Given the description of an element on the screen output the (x, y) to click on. 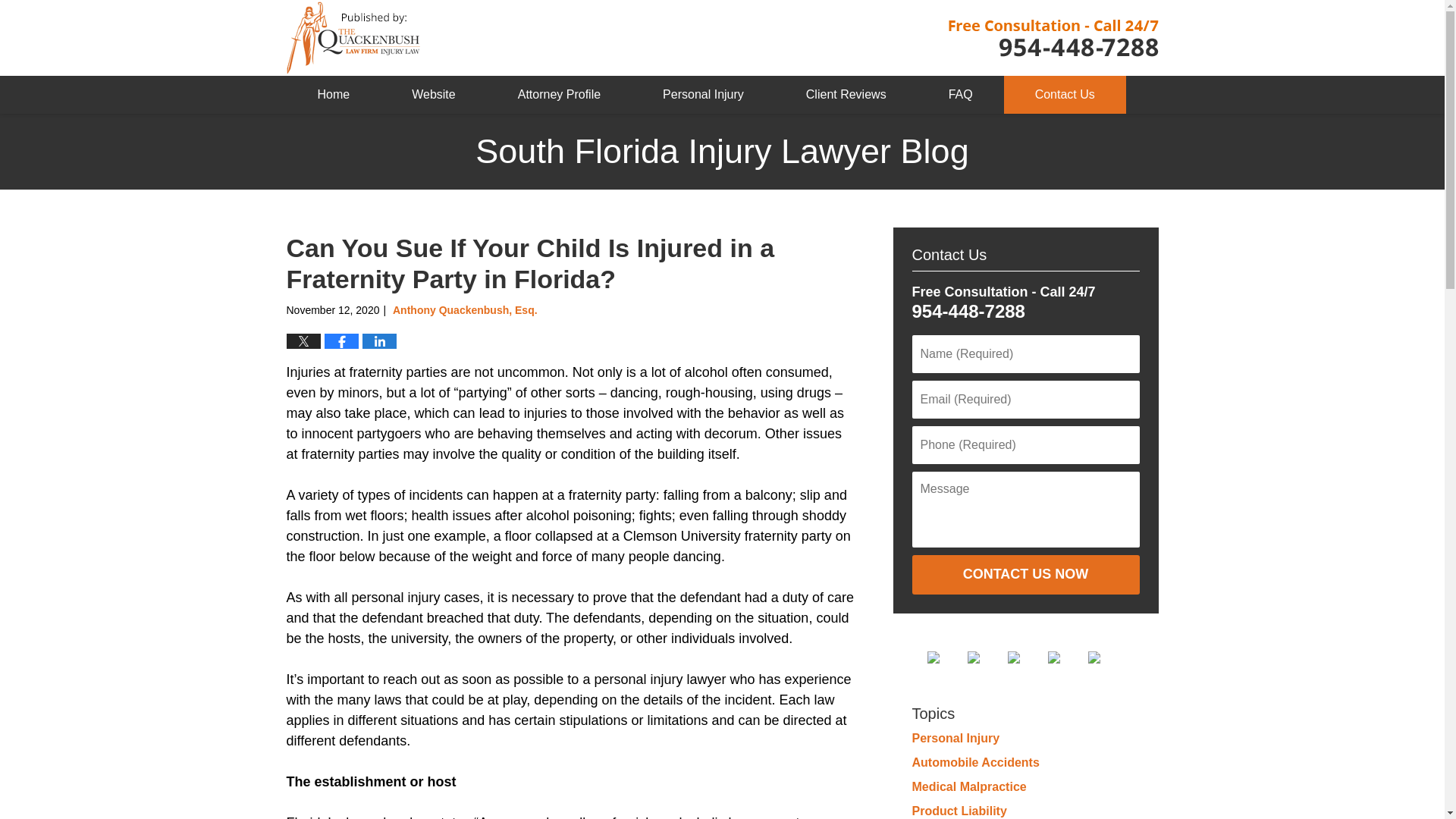
Personal Injury (702, 94)
Home (333, 94)
Twitter (986, 657)
Please enter a valid phone number. (1024, 444)
Contact Us (1064, 94)
Anthony Quackenbush, Esq. (465, 309)
South Florida Injury Lawyer Blog (353, 37)
Personal Injury (954, 738)
LinkedIn (1025, 657)
CONTACT US NOW (1024, 574)
